Given the description of an element on the screen output the (x, y) to click on. 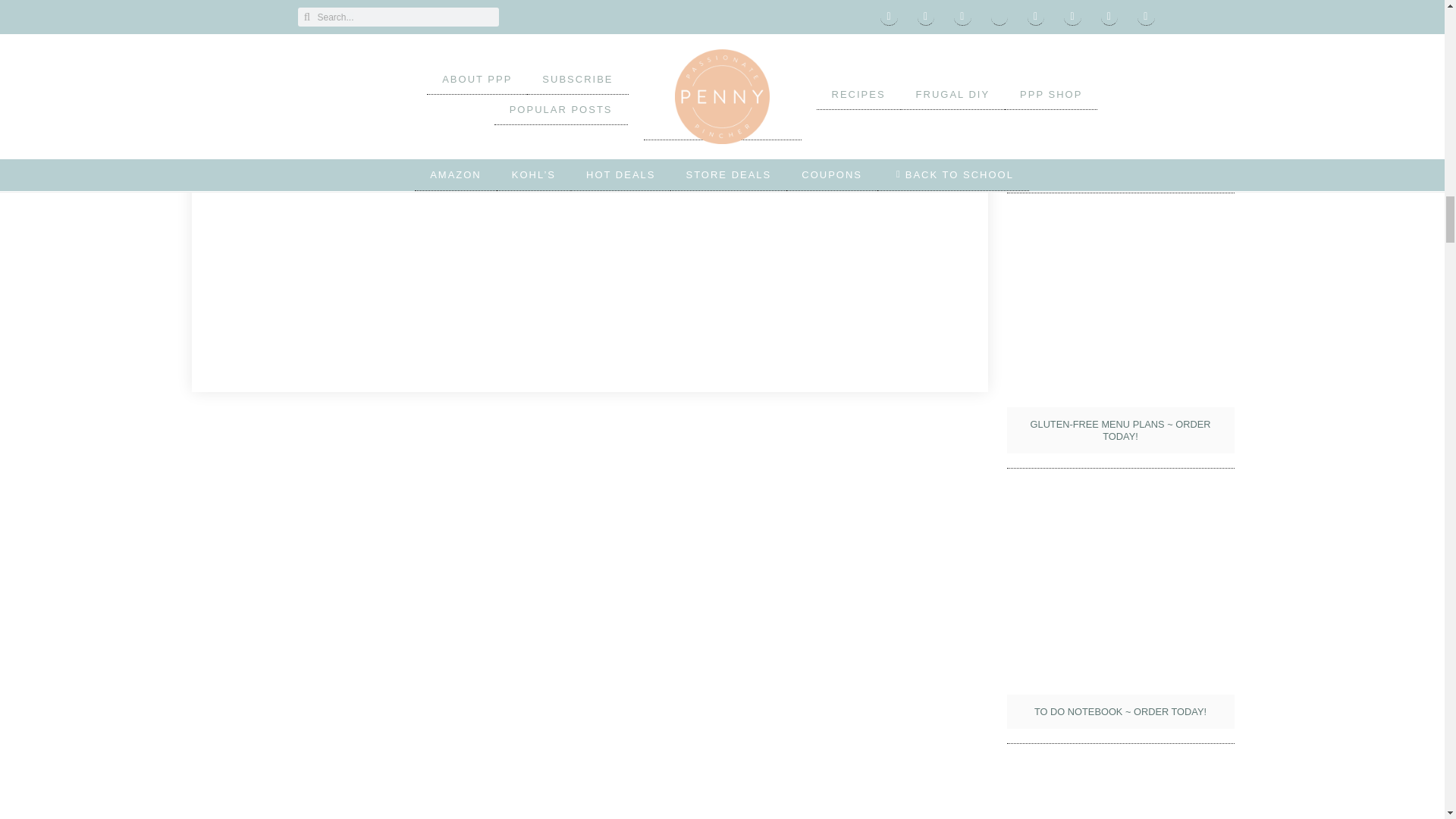
Post Comment (288, 99)
yes (226, 31)
